Given the description of an element on the screen output the (x, y) to click on. 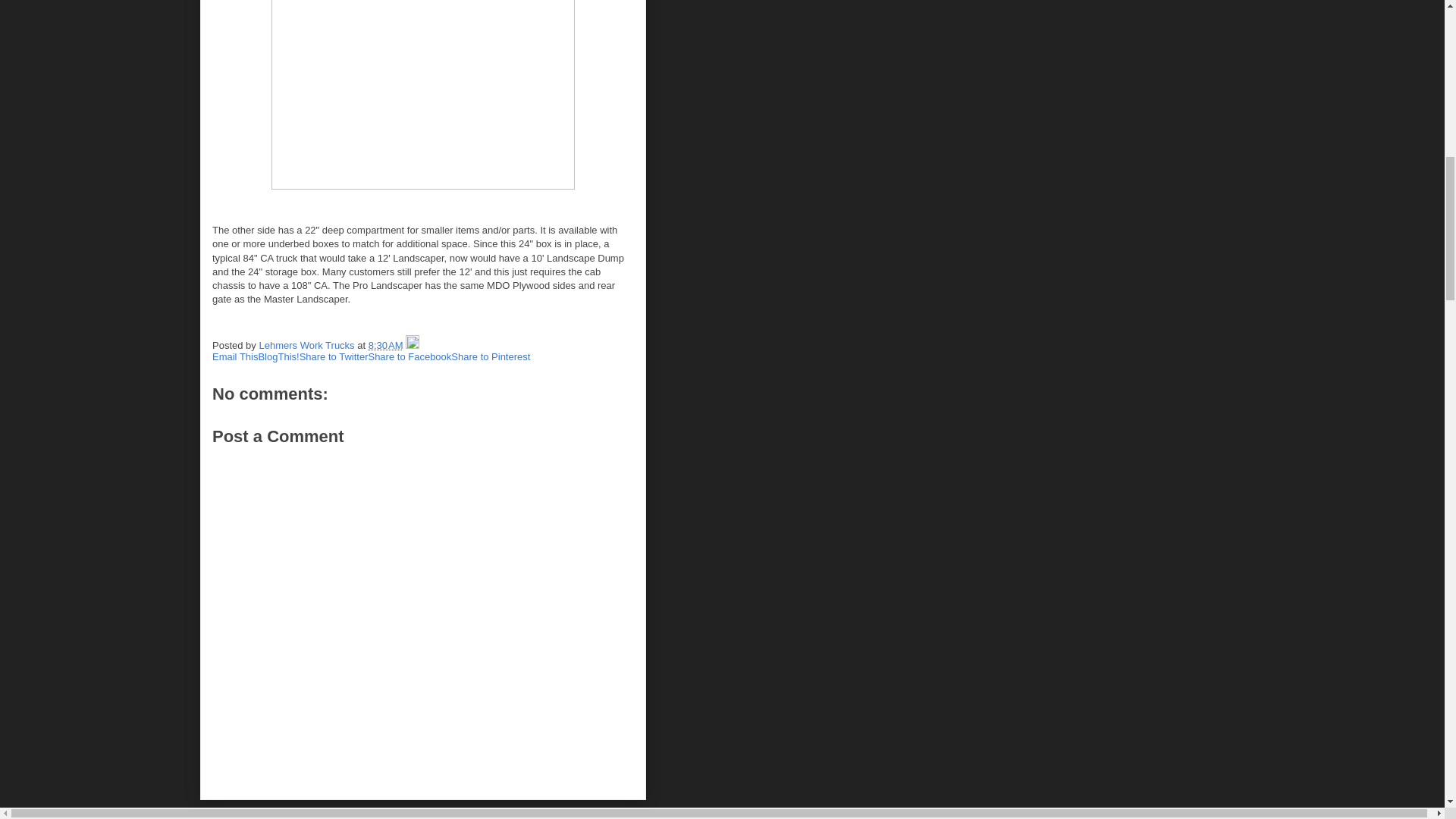
Share to Pinterest (490, 356)
BlogThis! (277, 356)
Email This (234, 356)
Share to Facebook (409, 356)
author profile (307, 345)
BlogThis! (277, 356)
Lehmers Work Trucks (307, 345)
Share to Facebook (409, 356)
Share to Pinterest (490, 356)
Email This (234, 356)
Share to Twitter (333, 356)
Edit Post (412, 345)
Share to Twitter (333, 356)
permanent link (385, 345)
